Given the description of an element on the screen output the (x, y) to click on. 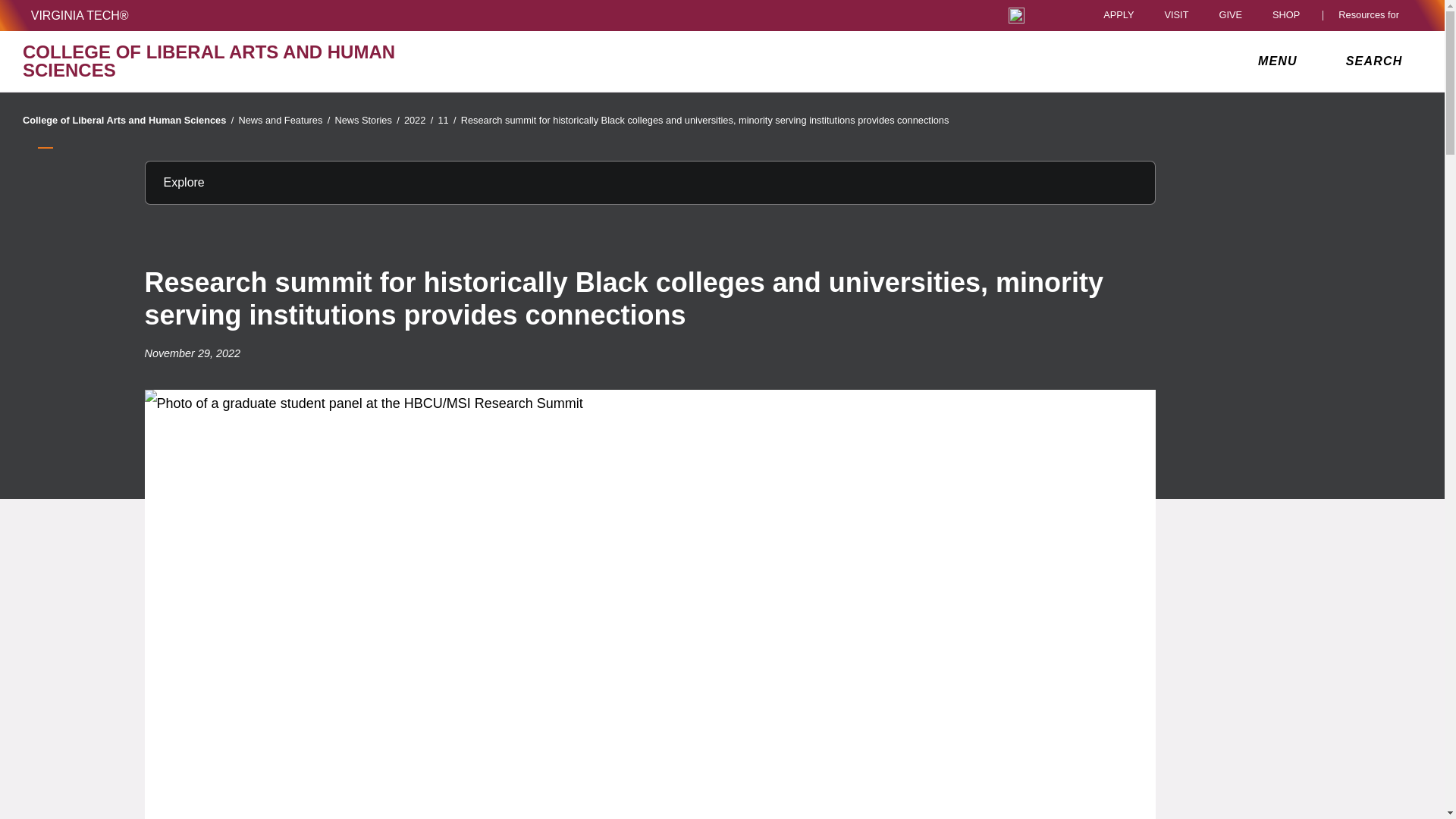
Resources for (1372, 15)
VISIT (1175, 15)
SHOP (1289, 15)
COLLEGE OF LIBERAL ARTS AND HUMAN SCIENCES (250, 60)
APPLY (1118, 15)
Universal Access Toggle (1017, 15)
GIVE (1229, 15)
MENU (1280, 61)
